Given the description of an element on the screen output the (x, y) to click on. 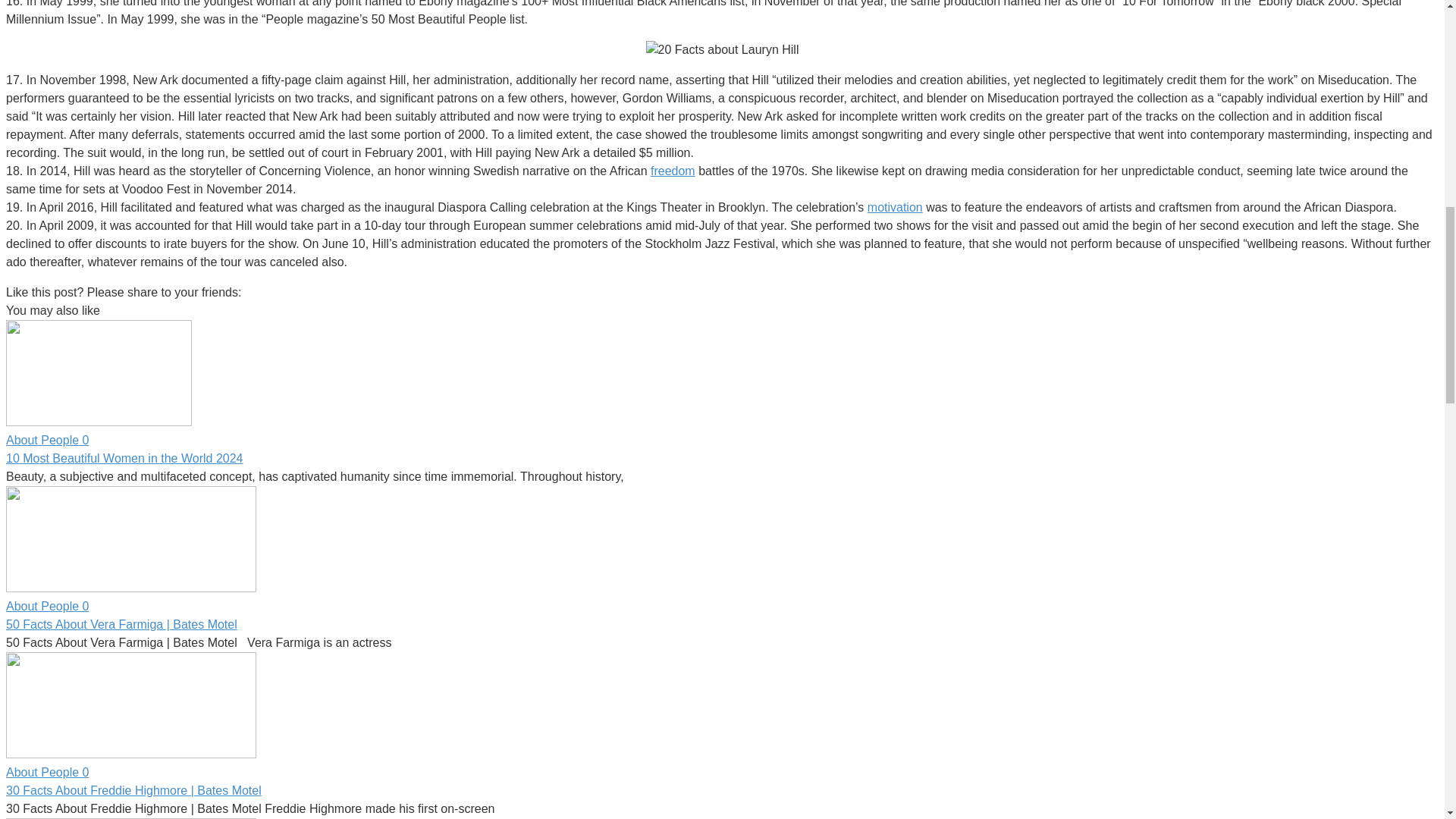
20 Facts about Lauryn Hill (722, 49)
10 Most Beautiful Women in the World 2024 (124, 458)
motivation (895, 206)
freedom (672, 170)
The Statue of Liberty and Ellis Island: A Symbol of Freedom (672, 170)
